Given the description of an element on the screen output the (x, y) to click on. 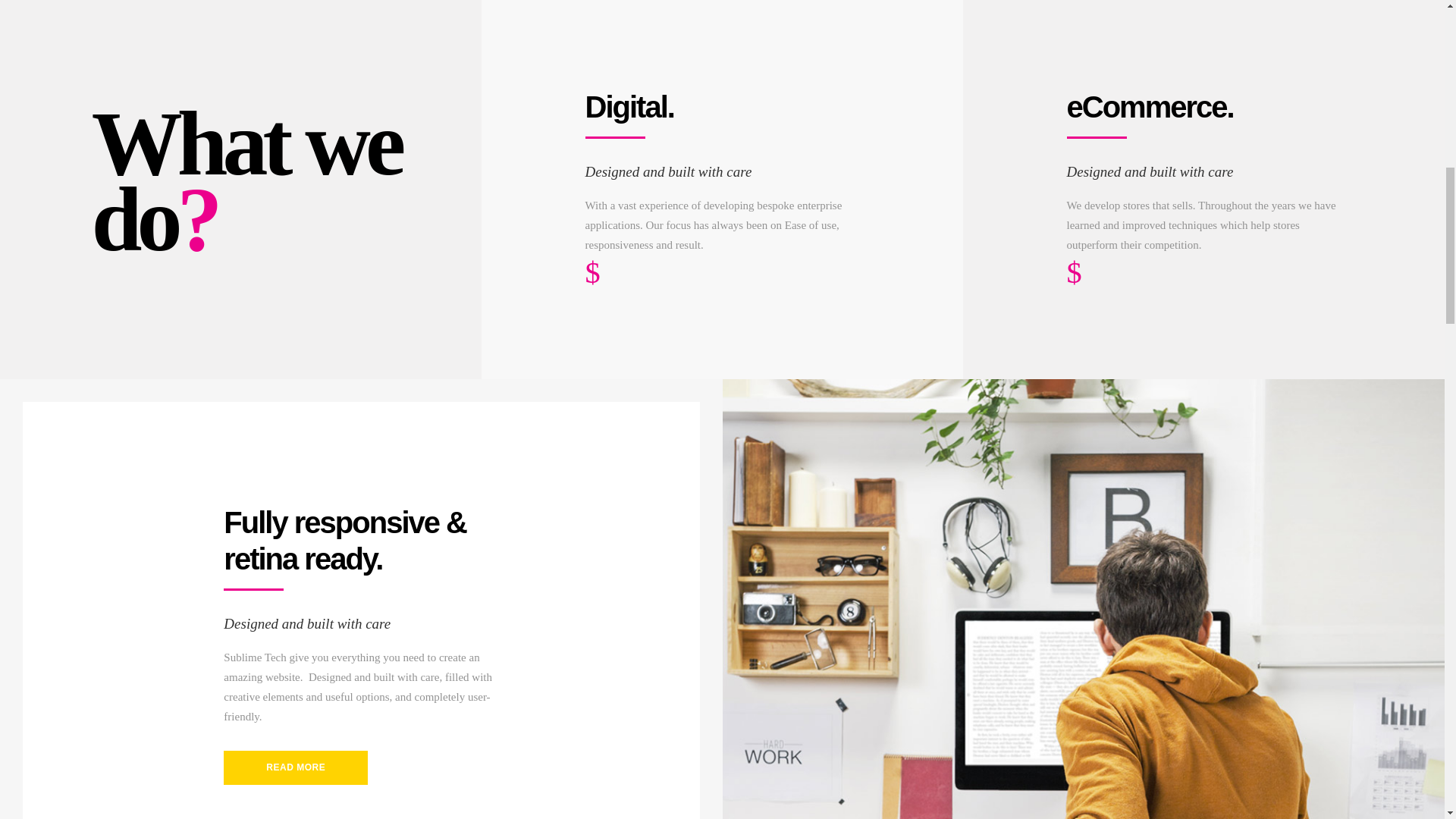
READ MORE (296, 767)
